Given the description of an element on the screen output the (x, y) to click on. 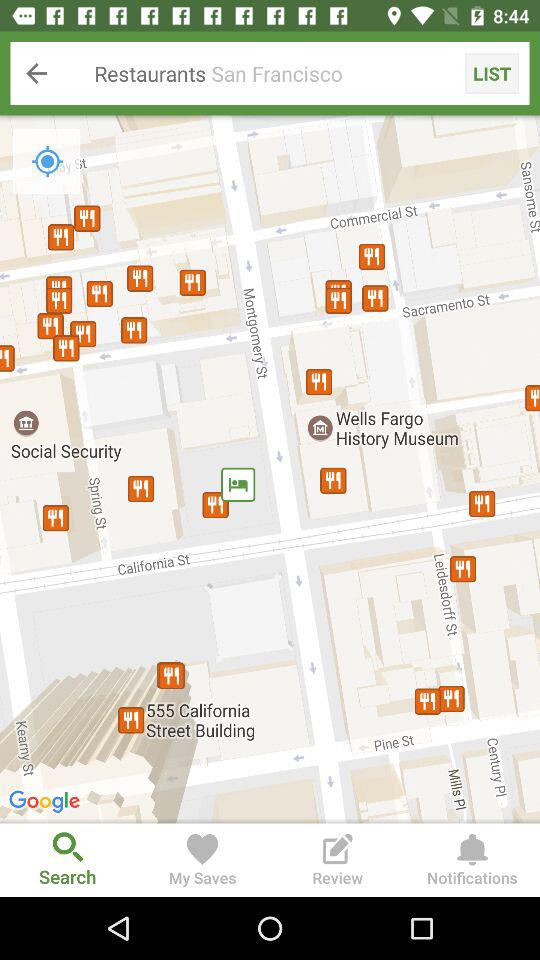
launch icon at the center (270, 469)
